Given the description of an element on the screen output the (x, y) to click on. 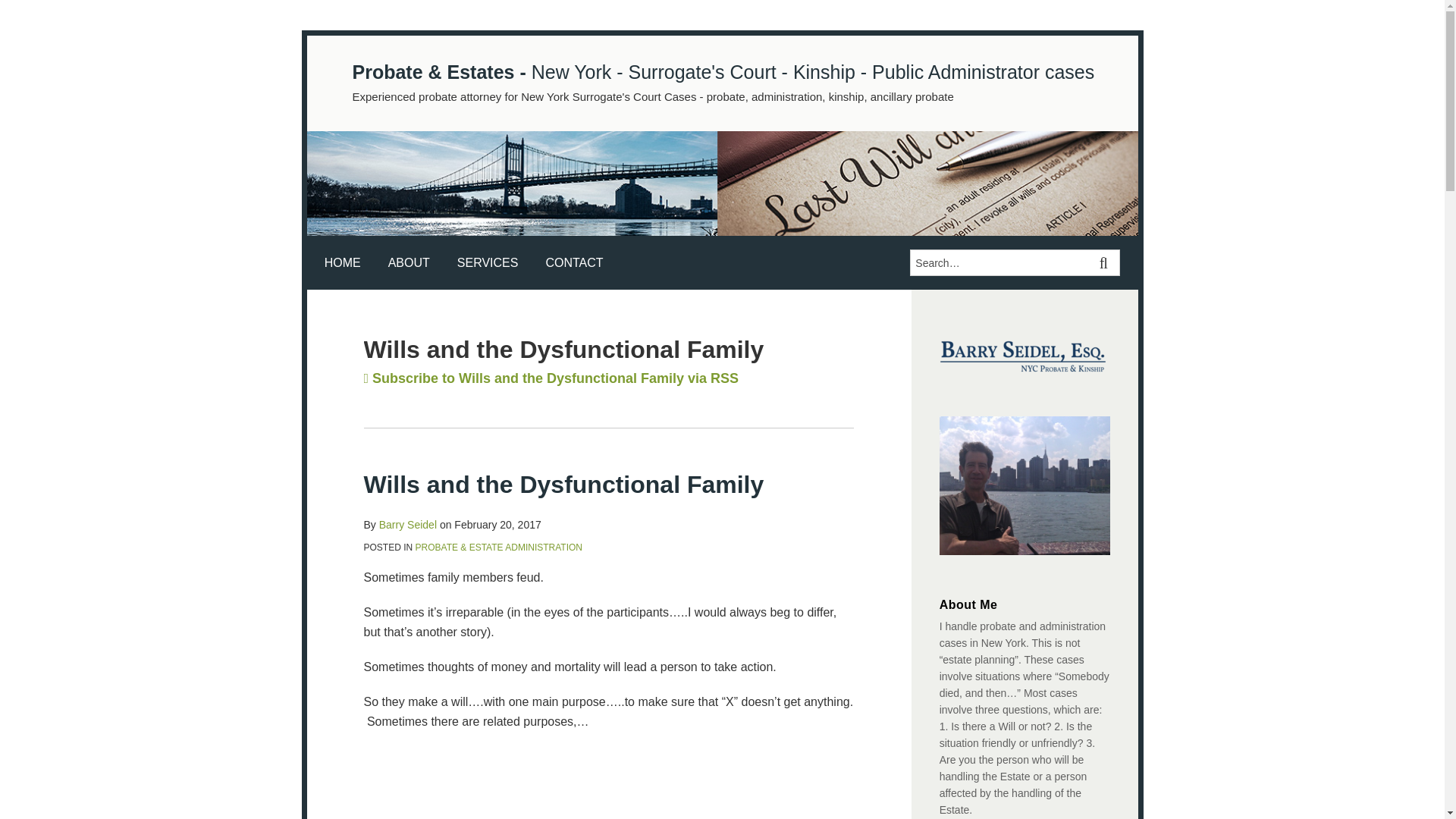
Barry Seidel (407, 524)
ABOUT (408, 262)
Subscribe to Wills and the Dysfunctional Family via RSS (551, 378)
HOME (342, 262)
CONTACT (573, 262)
SERVICES (487, 262)
Wills and the Dysfunctional Family (564, 483)
SEARCH (1105, 262)
